Given the description of an element on the screen output the (x, y) to click on. 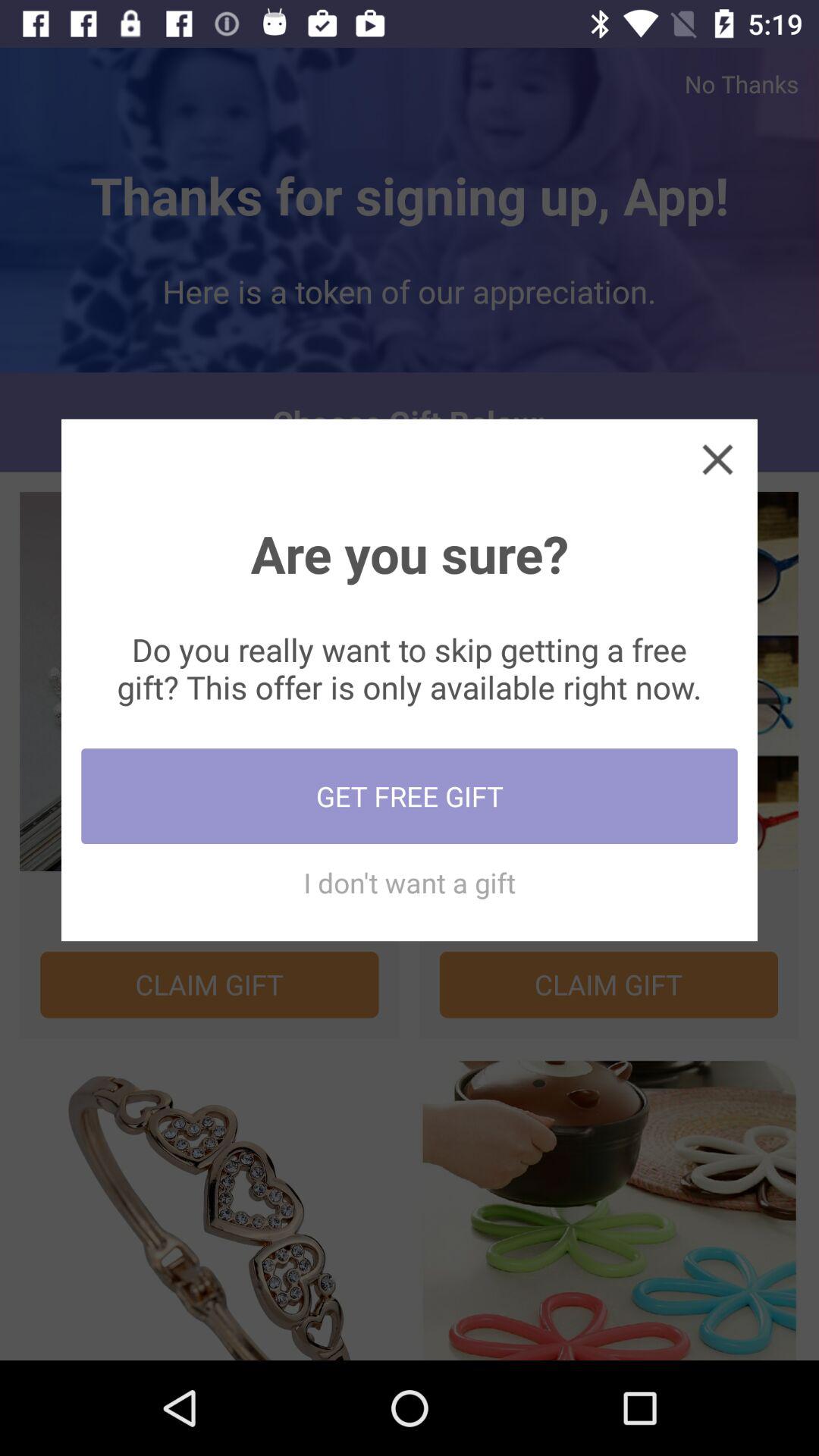
turn on item at the top right corner (717, 458)
